Given the description of an element on the screen output the (x, y) to click on. 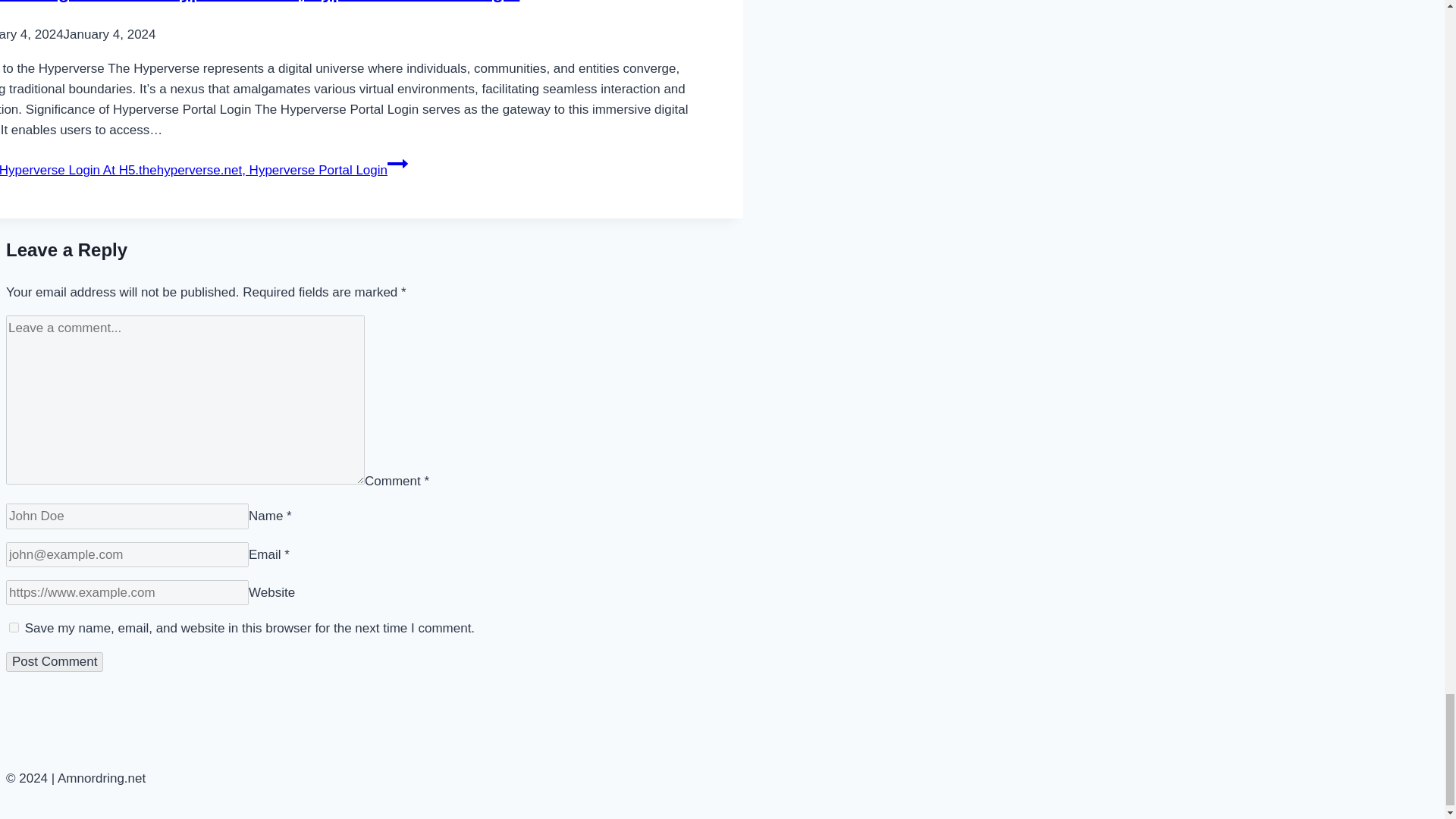
yes (13, 627)
Post Comment (54, 661)
Continue (397, 163)
Post Comment (54, 661)
